Given the description of an element on the screen output the (x, y) to click on. 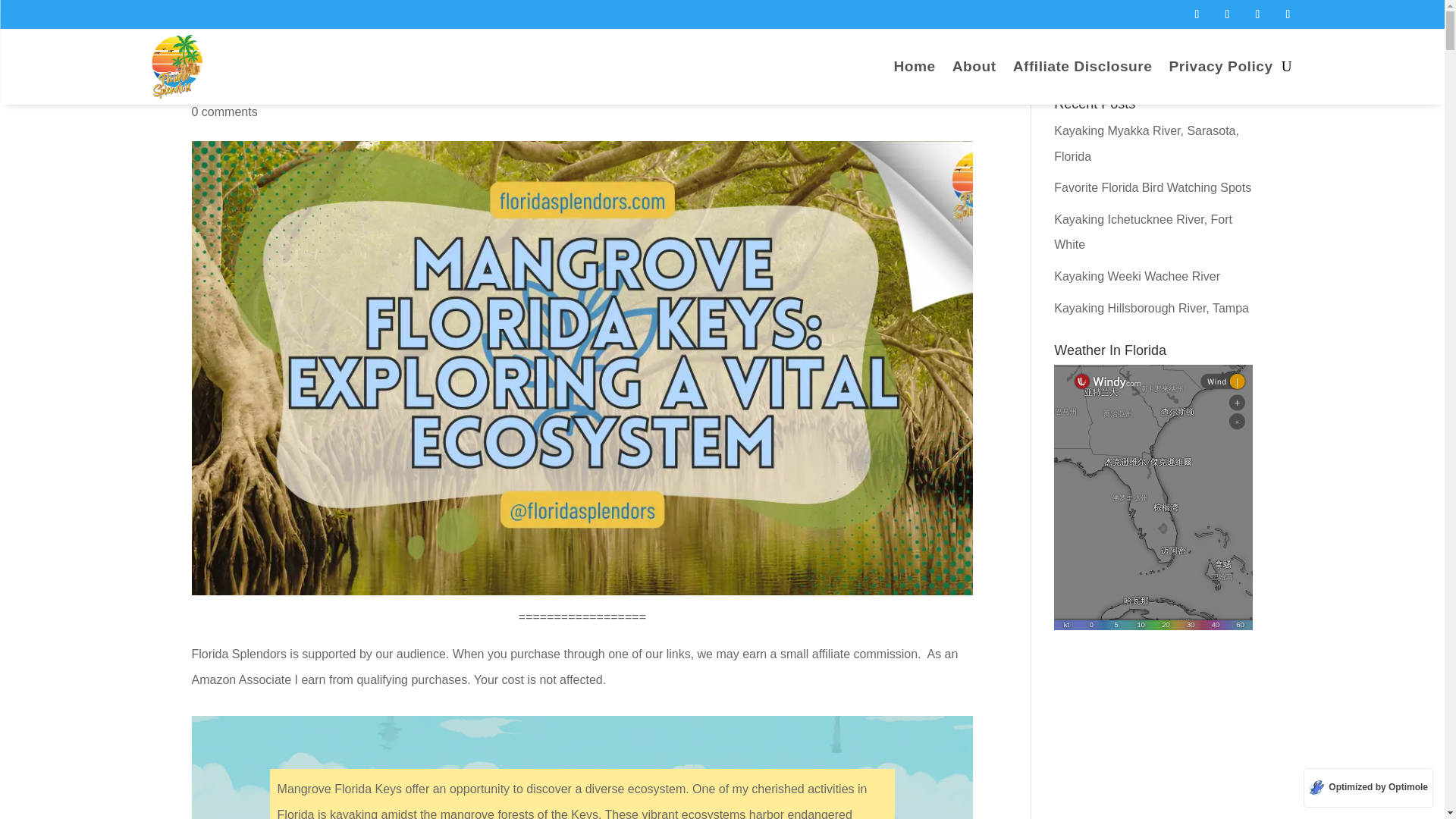
Affiliate Disclosure (1083, 69)
Home (913, 69)
Follow on Instagram (1256, 14)
Privacy Policy (1220, 69)
Follow on Facebook (1196, 14)
0 comments (223, 111)
Follow on Pinterest (1287, 14)
Follow on X (1226, 14)
logo (176, 67)
About (973, 69)
